Given the description of an element on the screen output the (x, y) to click on. 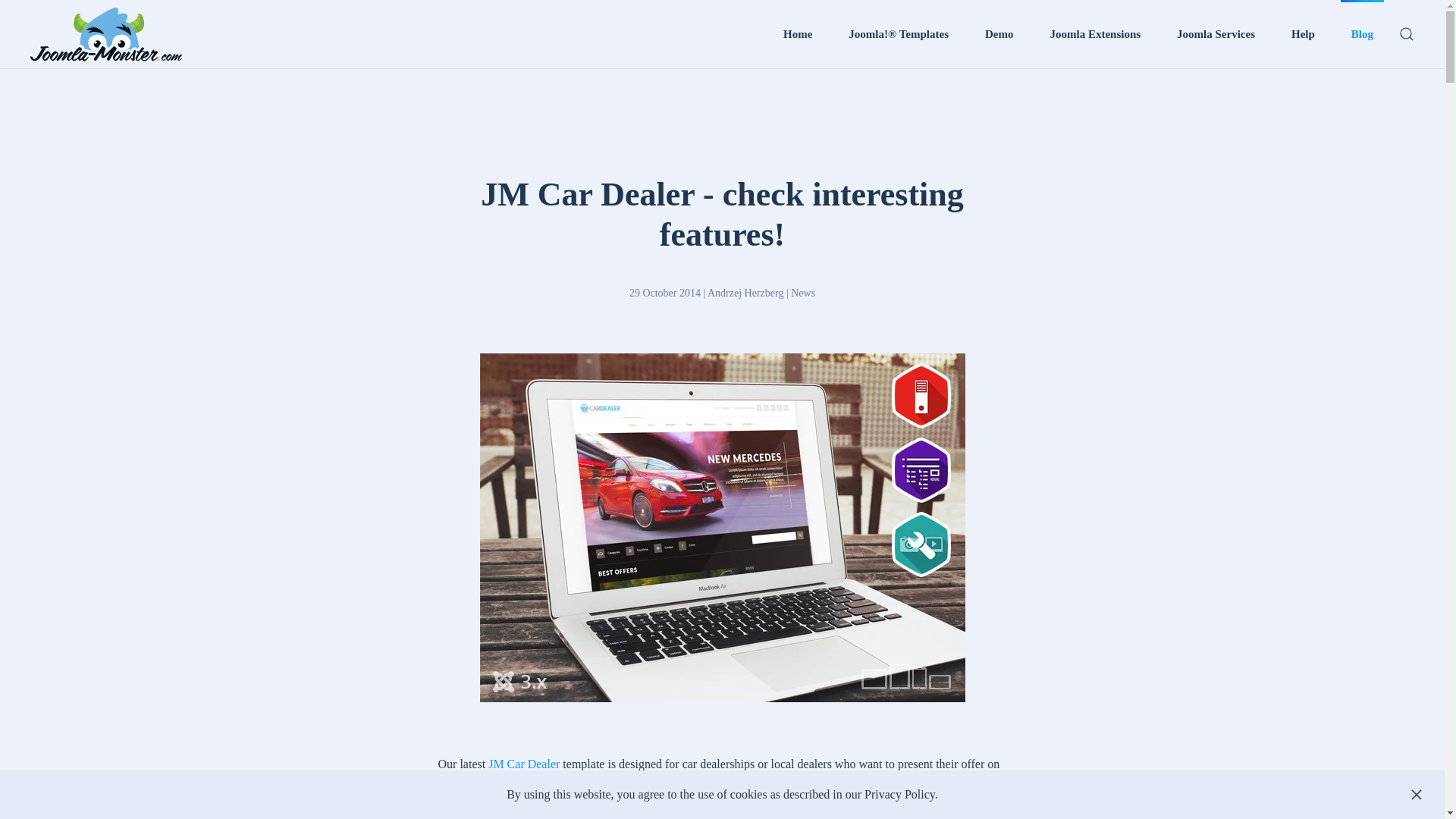
News (802, 292)
JM Car Dealer (523, 763)
JM Car Dealer live demo (497, 814)
Joomla Services (1215, 33)
Joomla Extensions (1095, 33)
JM Car Dealer (523, 763)
demo site (497, 814)
